Given the description of an element on the screen output the (x, y) to click on. 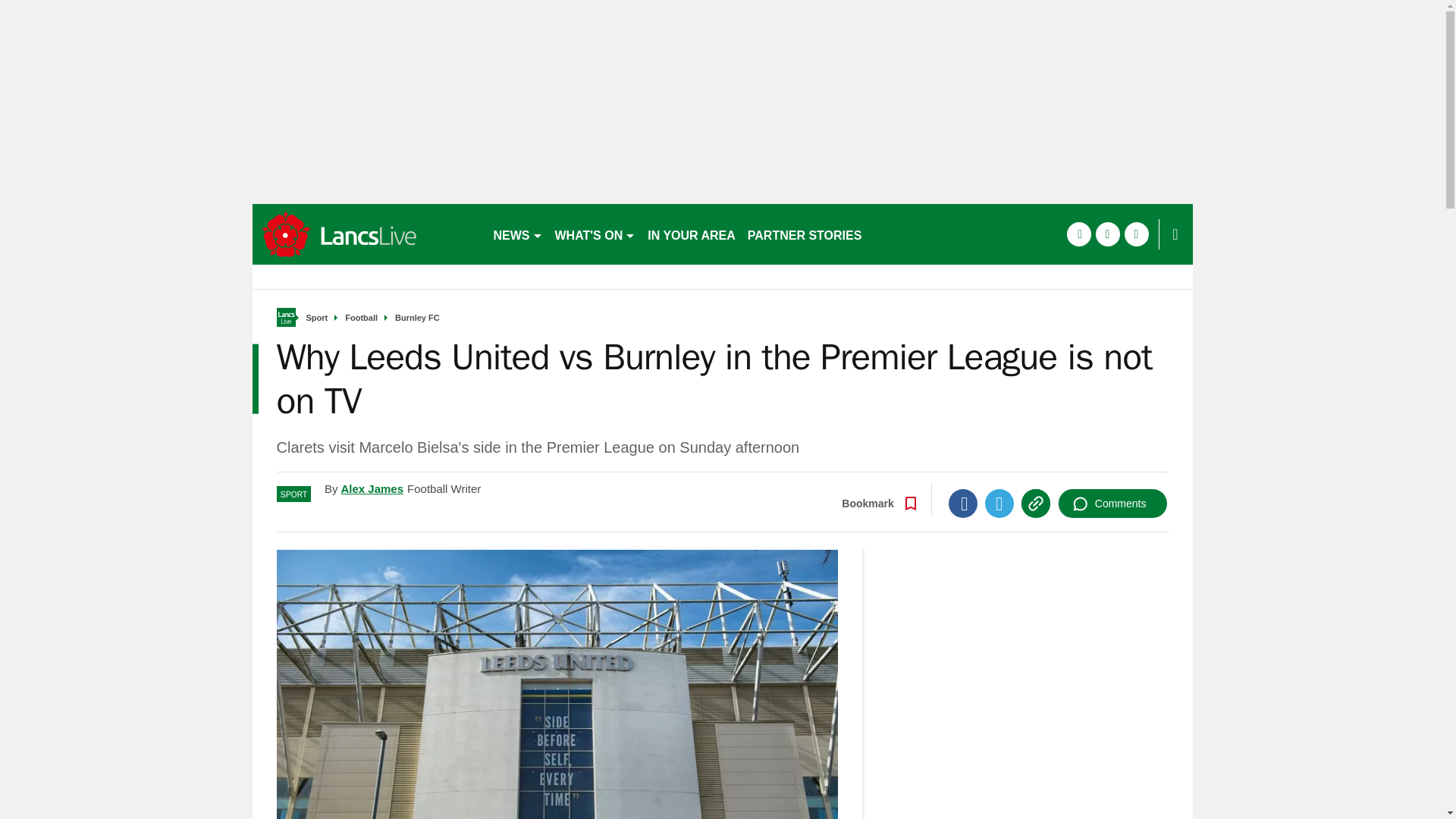
NEWS (517, 233)
IN YOUR AREA (691, 233)
facebook (1077, 233)
twitter (1106, 233)
Facebook (962, 502)
PARTNER STORIES (804, 233)
WHAT'S ON (595, 233)
Twitter (999, 502)
instagram (1136, 233)
Comments (1112, 502)
